Given the description of an element on the screen output the (x, y) to click on. 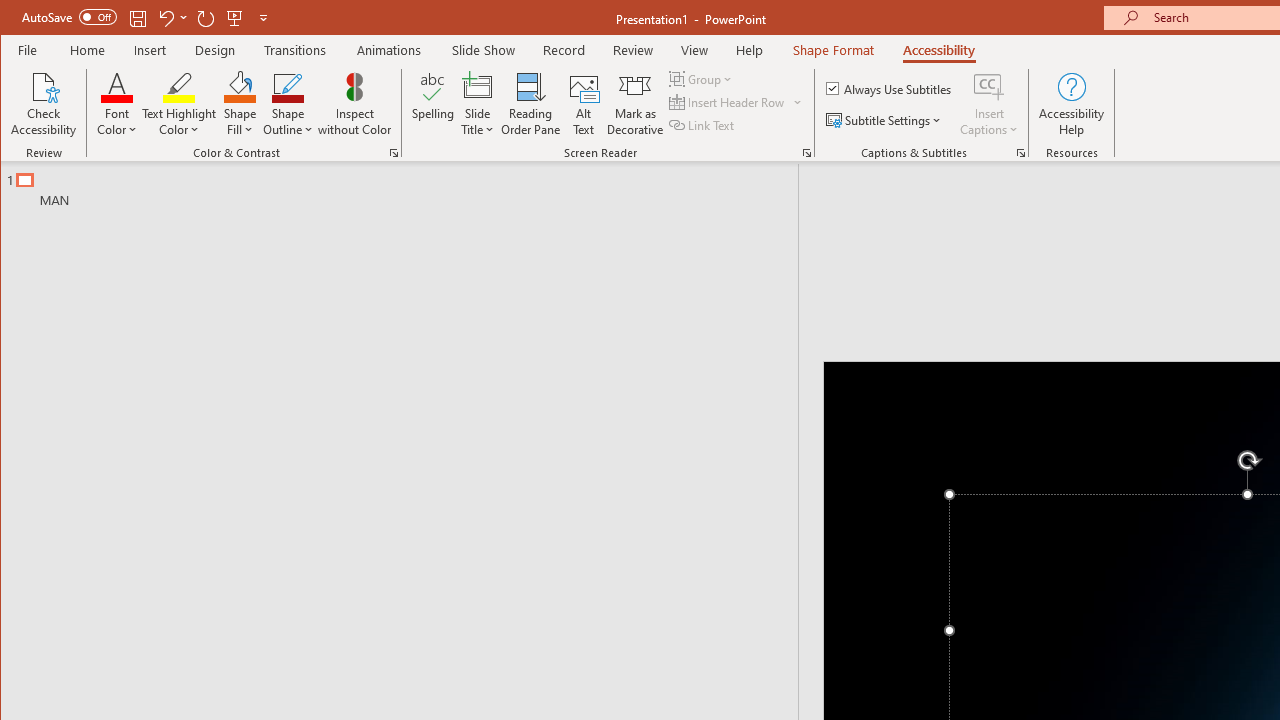
Screen Reader (806, 152)
Group (701, 78)
Link Text (703, 124)
